Given the description of an element on the screen output the (x, y) to click on. 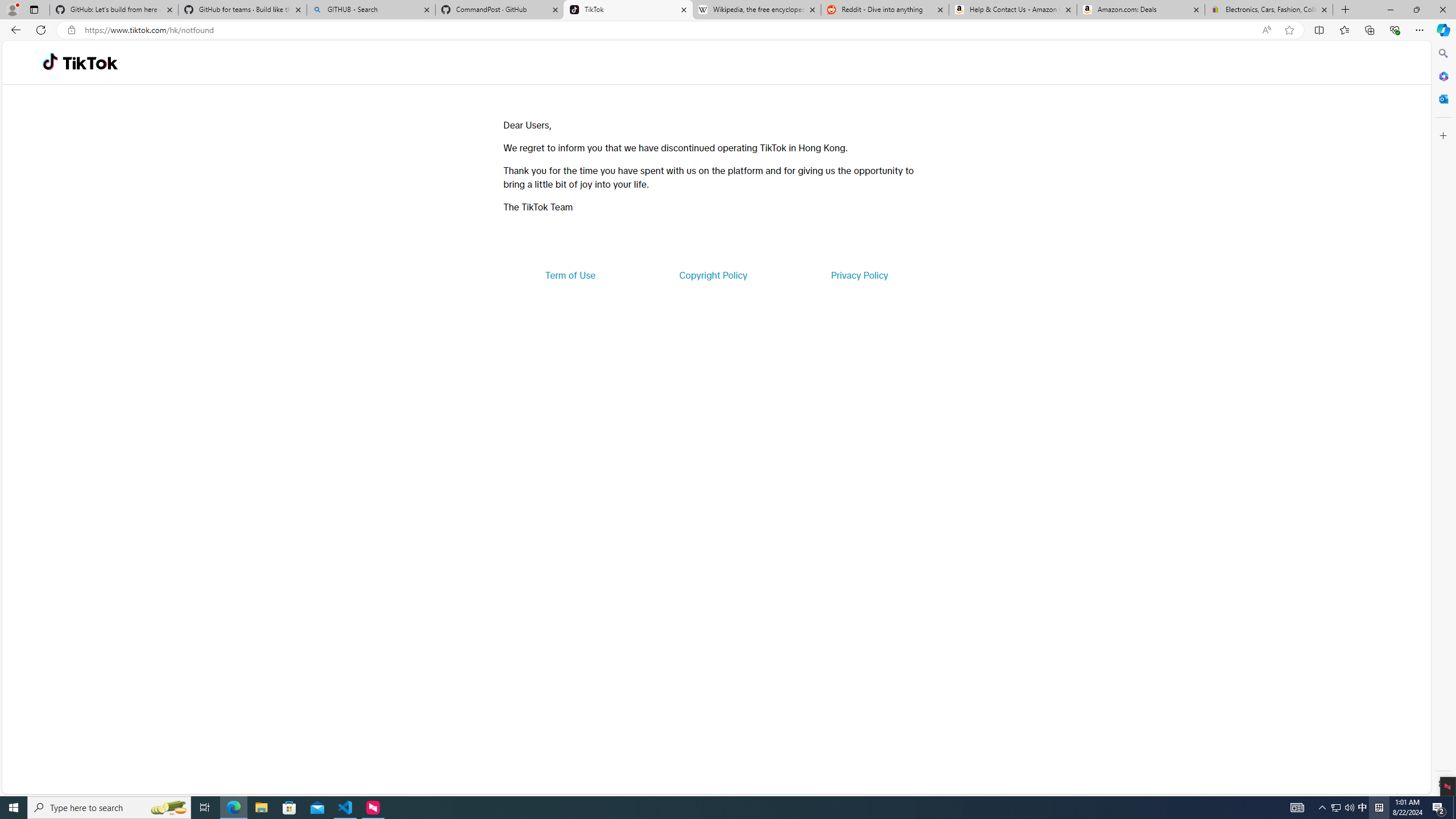
Amazon.com: Deals (1140, 9)
Copyright Policy (712, 274)
Term of Use (569, 274)
